Given the description of an element on the screen output the (x, y) to click on. 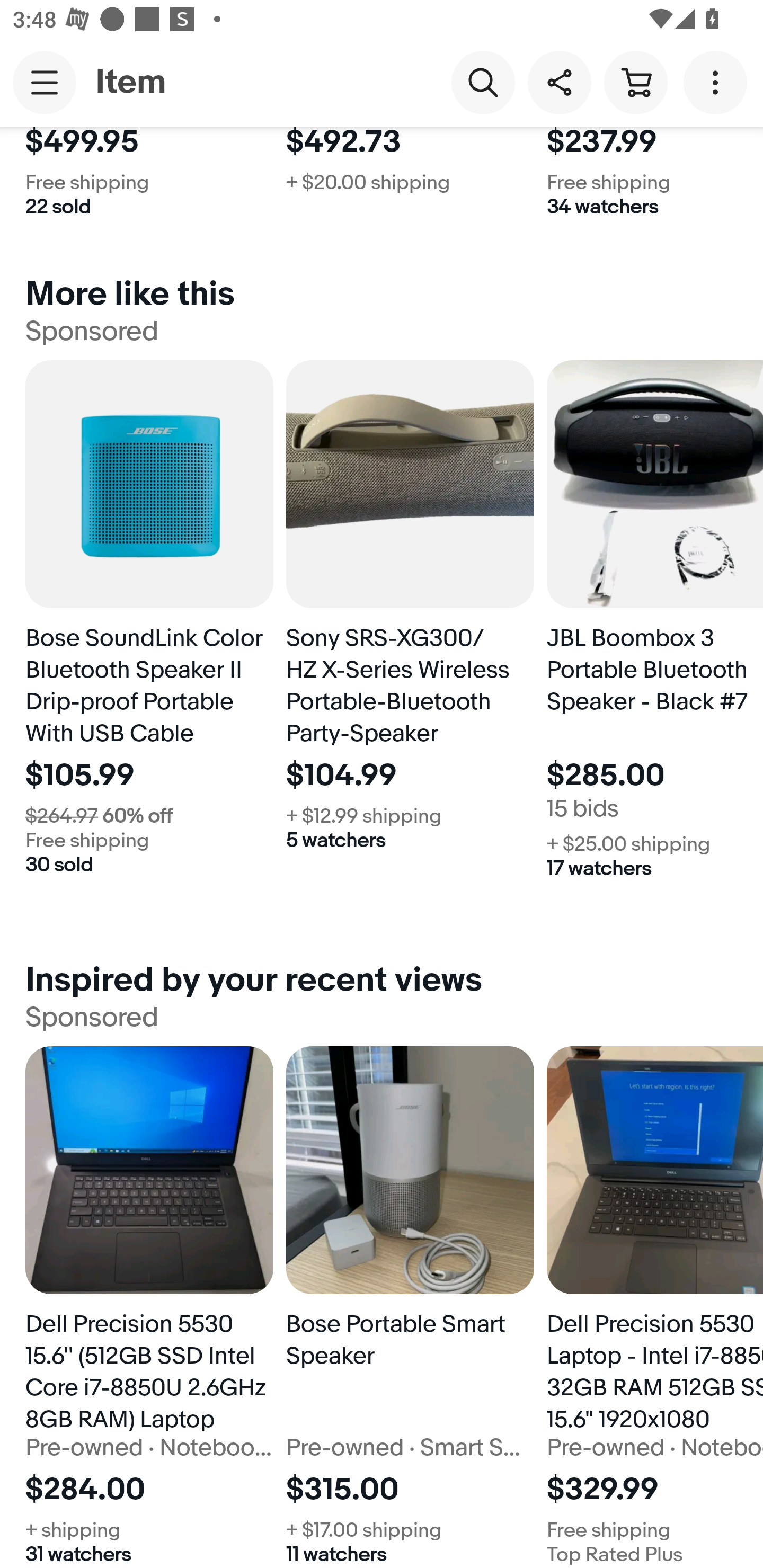
Main navigation, open (44, 82)
Search (482, 81)
Share this item (559, 81)
Cart button shopping cart (635, 81)
More options (718, 81)
$492.73 + $20.00 shipping + $20.00 shipping (410, 181)
